Given the description of an element on the screen output the (x, y) to click on. 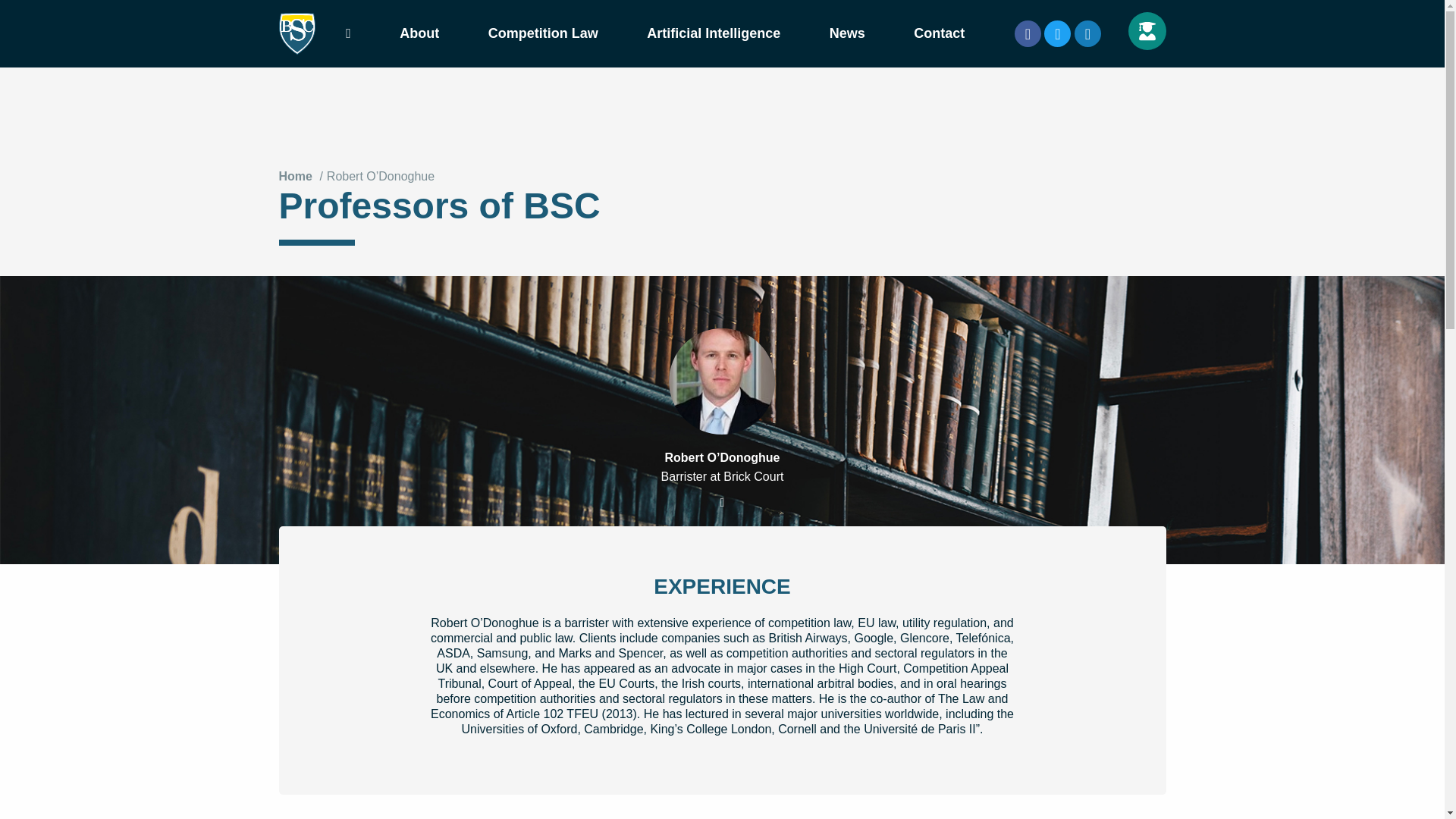
Artificial Intelligence (713, 33)
Home (296, 176)
Twitter (1056, 33)
About (419, 33)
News (847, 33)
Facebook (1027, 33)
Linkedin (1087, 33)
Contact (939, 33)
Competition Law (543, 33)
